Given the description of an element on the screen output the (x, y) to click on. 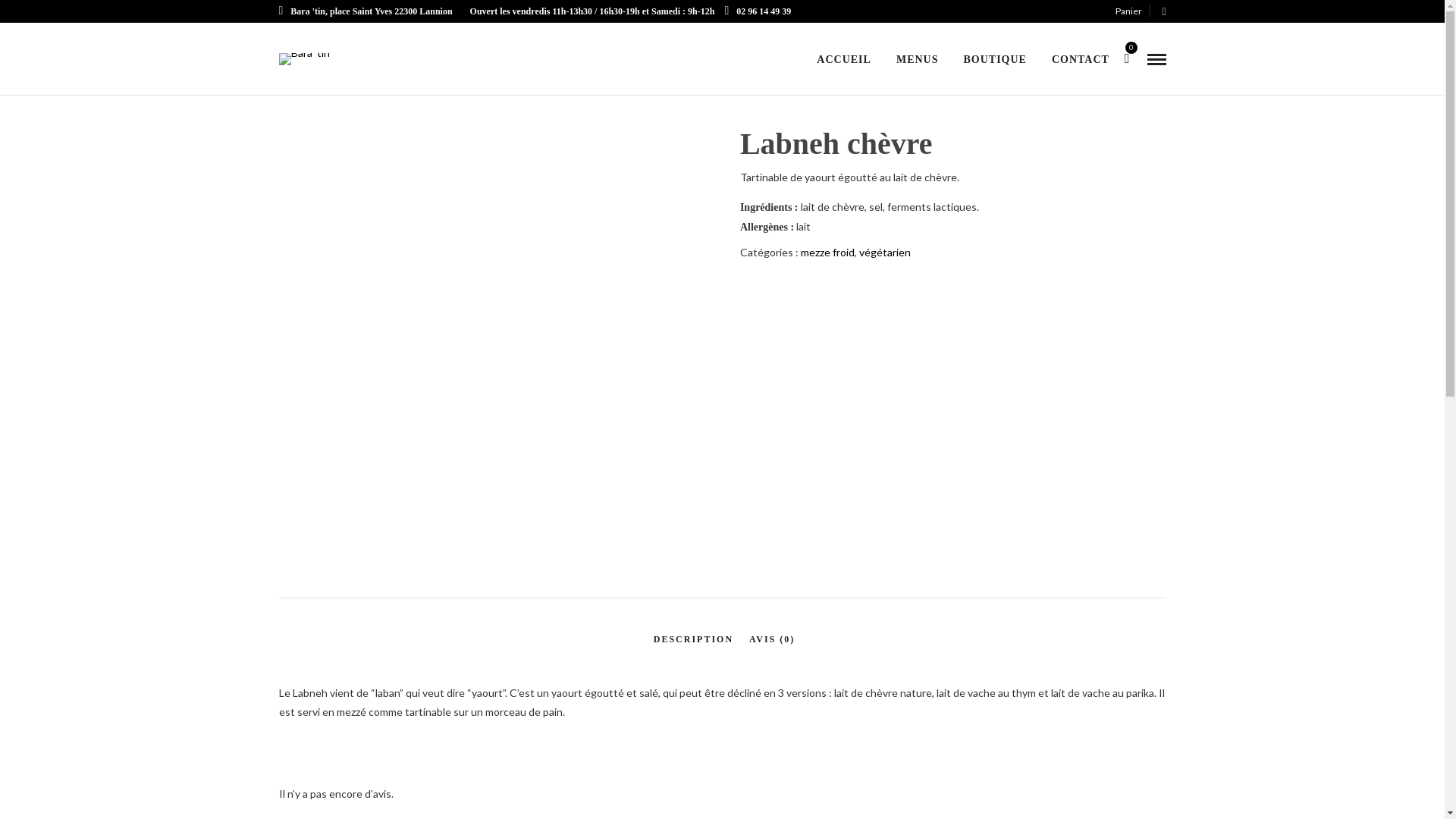
ACCUEIL Element type: text (843, 59)
02 96 14 49 39 Element type: text (757, 11)
CONTACT Element type: text (1080, 59)
Panier Element type: text (1132, 10)
BOUTIQUE Element type: text (994, 59)
MENUS Element type: text (917, 59)
AVIS (0) Element type: text (771, 639)
mezze froid Element type: text (827, 251)
DESCRIPTION Element type: text (693, 639)
